Given the description of an element on the screen output the (x, y) to click on. 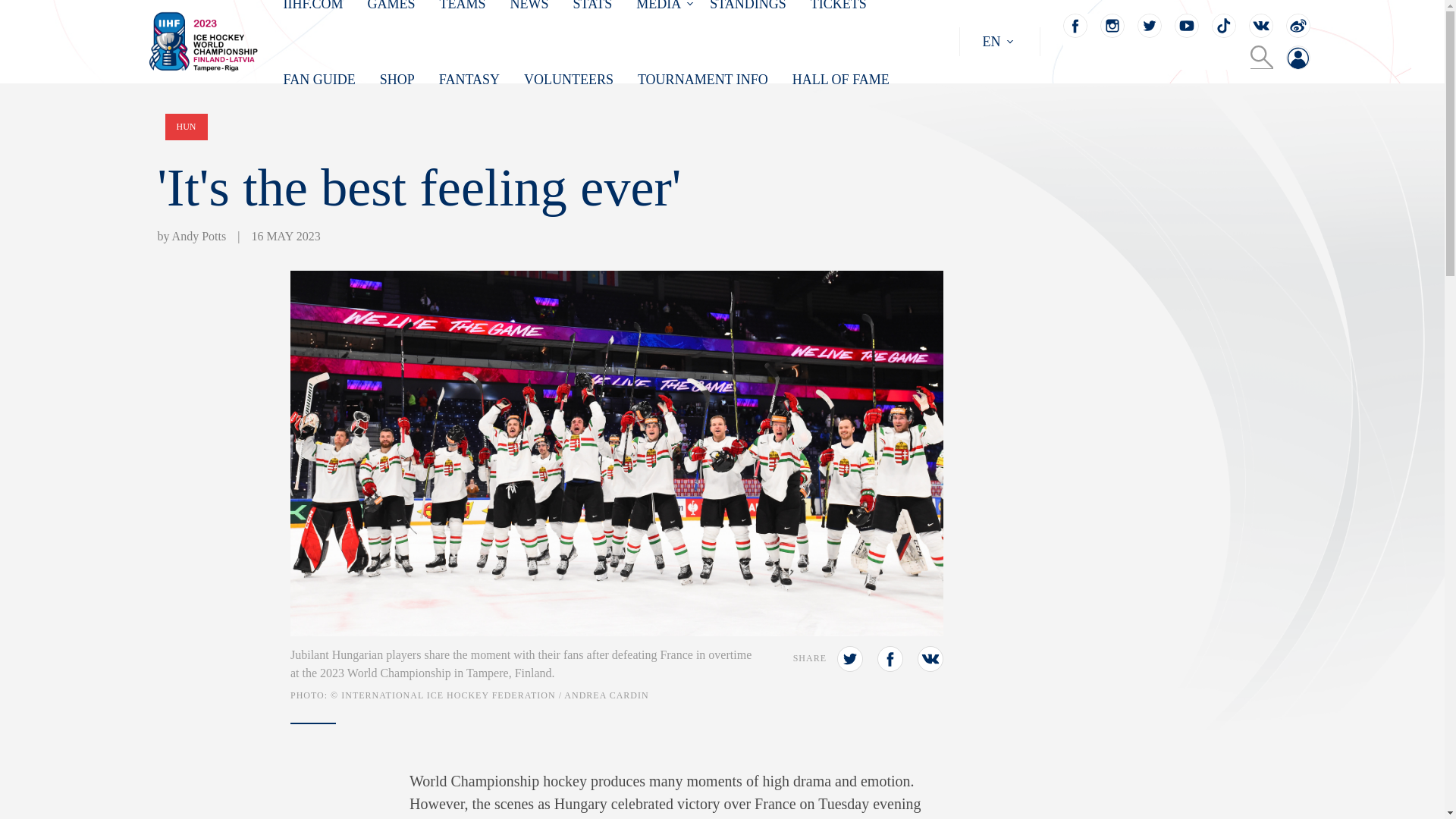
IIHF.COM (313, 5)
TEAMS (462, 5)
HALL OF FAME (840, 78)
STATS (592, 5)
VOLUNTEERS (568, 78)
SHOP (397, 78)
NEWS (529, 5)
FAN GUIDE (319, 78)
STANDINGS (748, 5)
FANTASY (469, 78)
